Given the description of an element on the screen output the (x, y) to click on. 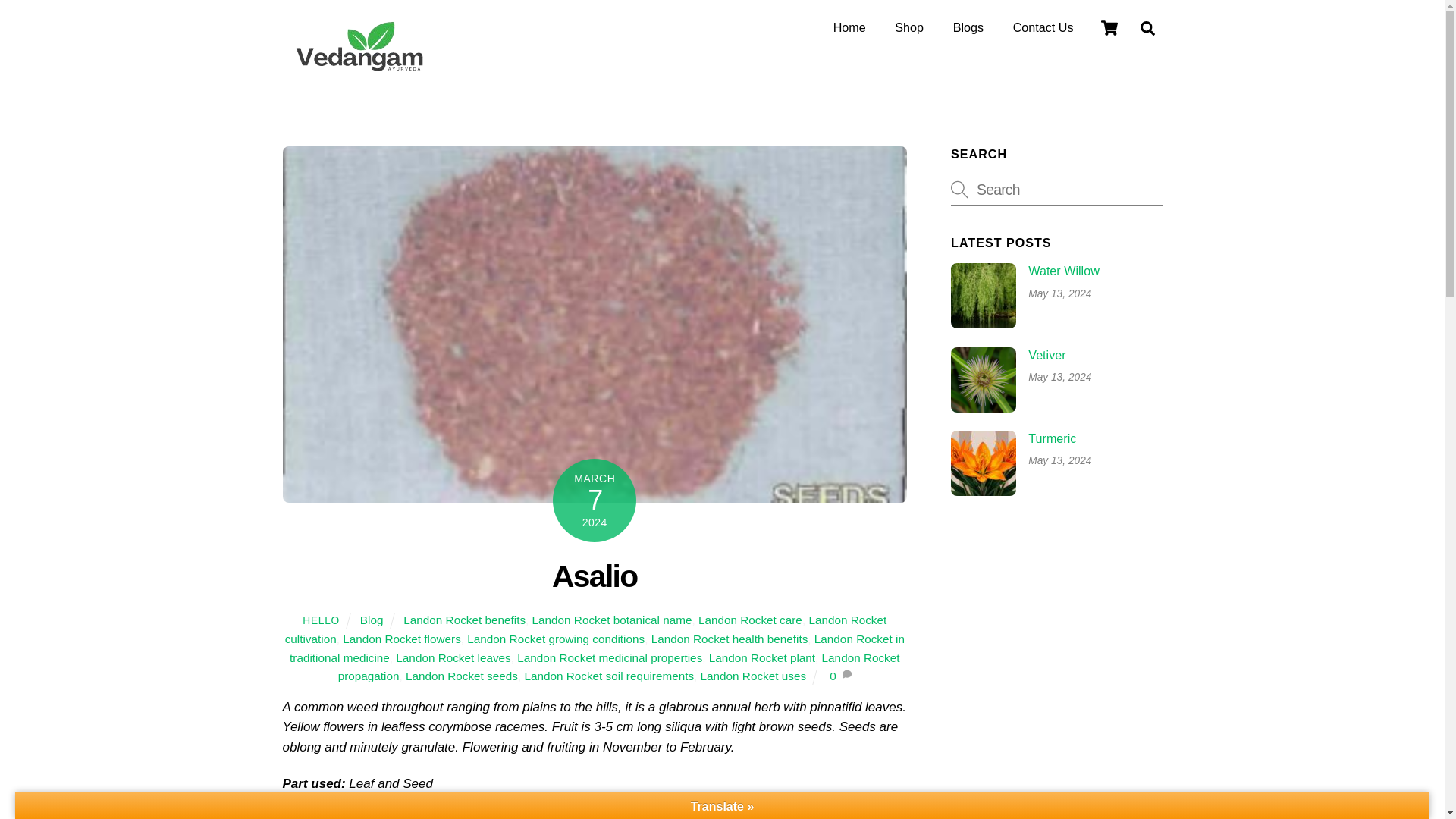
Search (1055, 189)
fd9yYlWUSIC9w-U4BPPtug (983, 379)
Landon Rocket botanical name (612, 619)
inwOLM2eQue67fD-3Z2sKA (983, 463)
Landon Rocket flowers (401, 638)
Landon Rocket uses (753, 675)
Landon Rocket benefits (464, 619)
Landon Rocket in traditional medicine (596, 647)
Landon Rocket seeds (462, 675)
Landon Rocket growing conditions (556, 638)
Shop (909, 27)
Blogs (968, 27)
HELLO (320, 620)
Search (1146, 28)
